Given the description of an element on the screen output the (x, y) to click on. 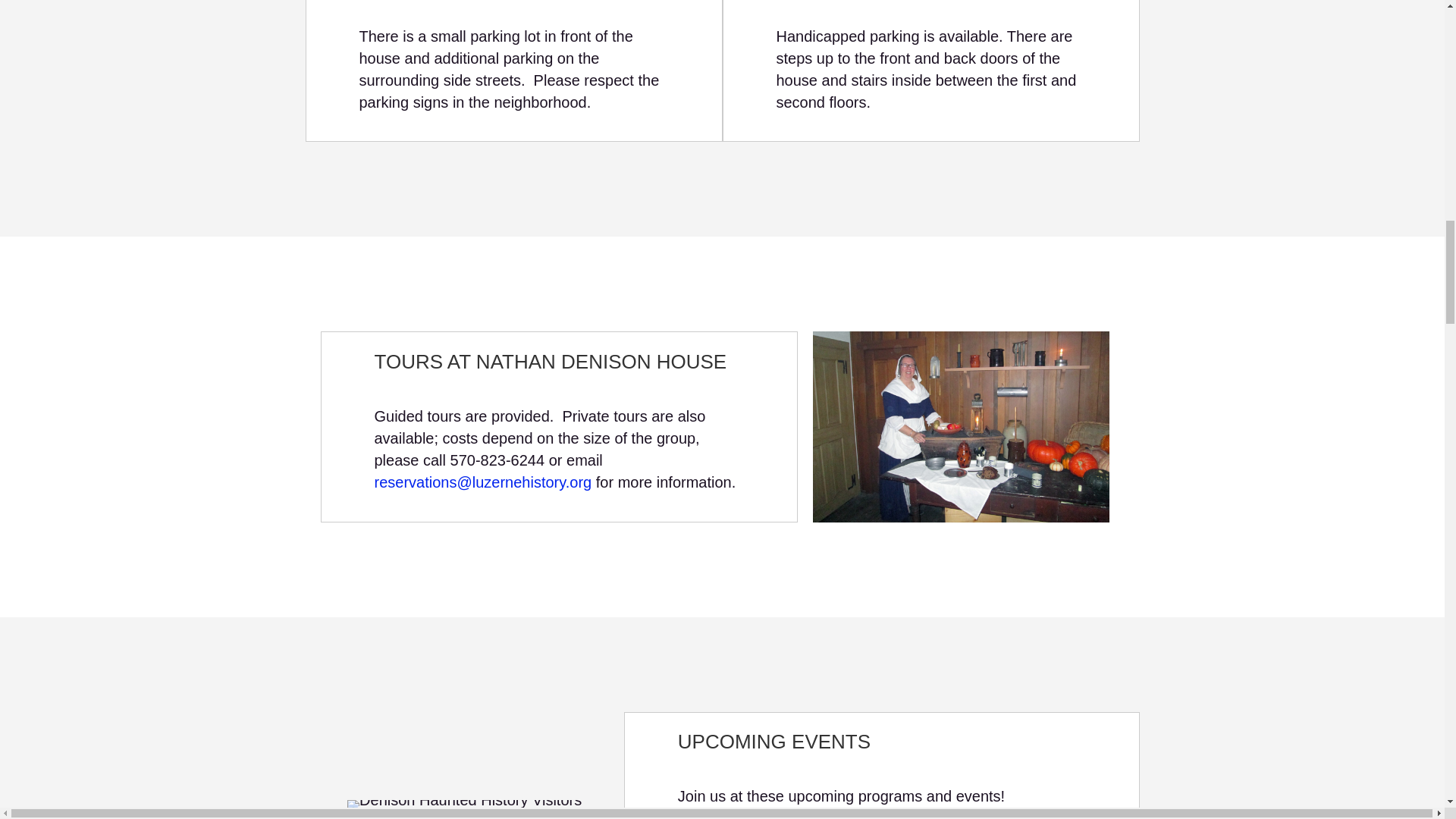
denison-haunted-history-colonial-visitors (463, 806)
denison-haunted-history-food (960, 426)
